Given the description of an element on the screen output the (x, y) to click on. 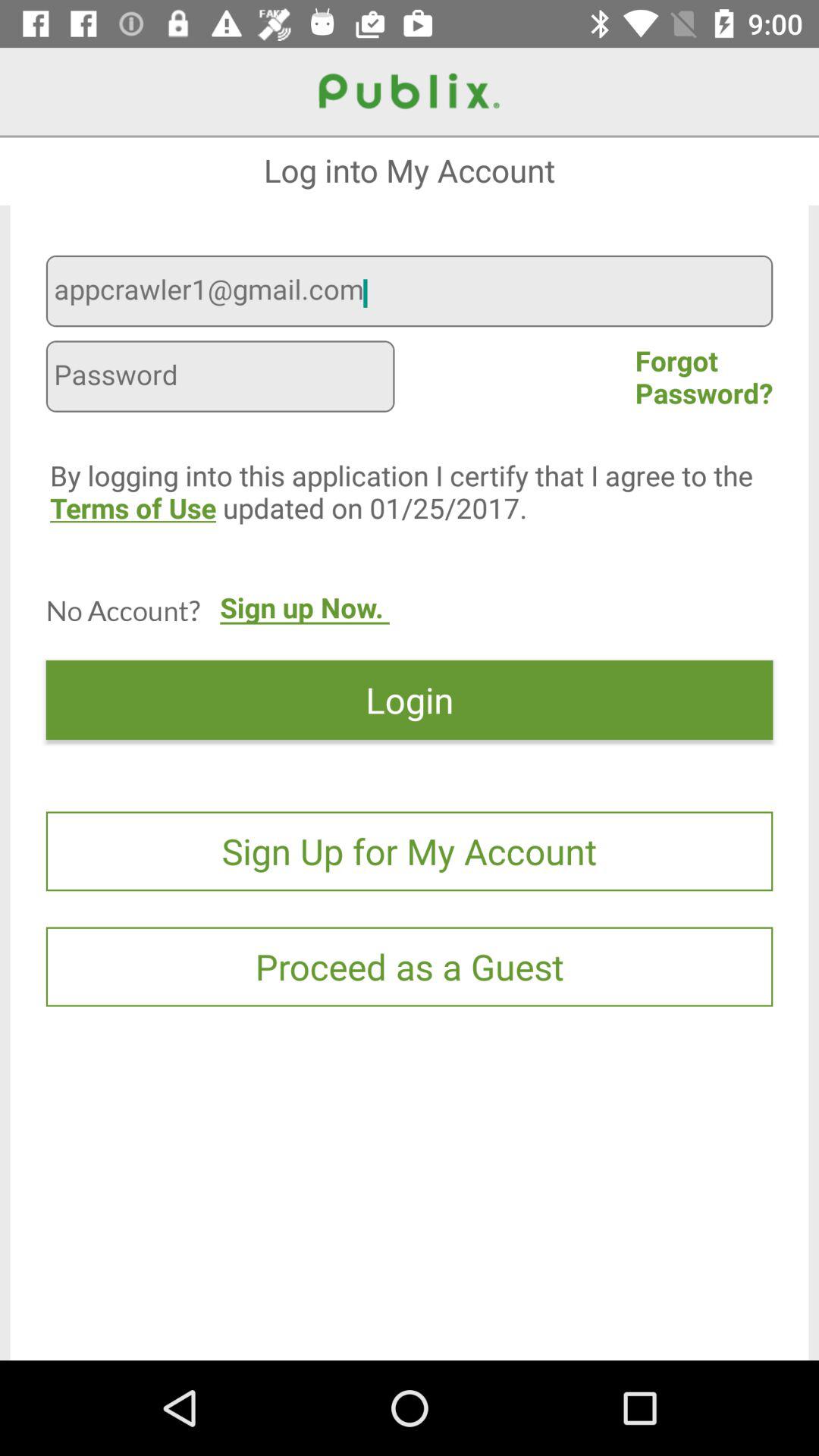
jump until the no account? (123, 609)
